Given the description of an element on the screen output the (x, y) to click on. 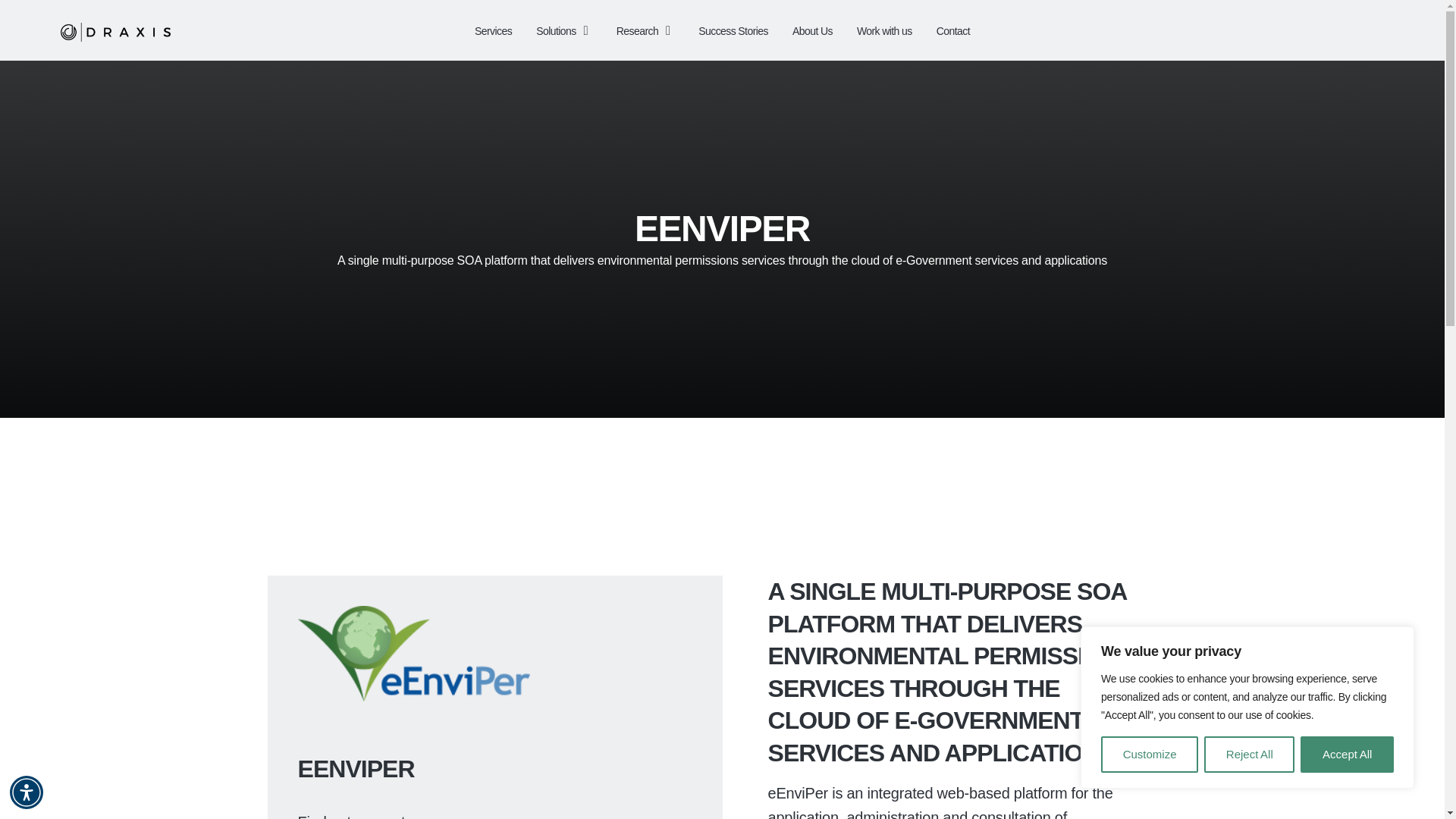
Contact (952, 30)
Services (493, 30)
Work with us (884, 30)
Accept All (1346, 754)
Accessibility Menu (26, 792)
About Us (812, 30)
Research (644, 30)
Success Stories (733, 30)
Customize (1149, 754)
Reject All (1249, 754)
Solutions (563, 30)
